Given the description of an element on the screen output the (x, y) to click on. 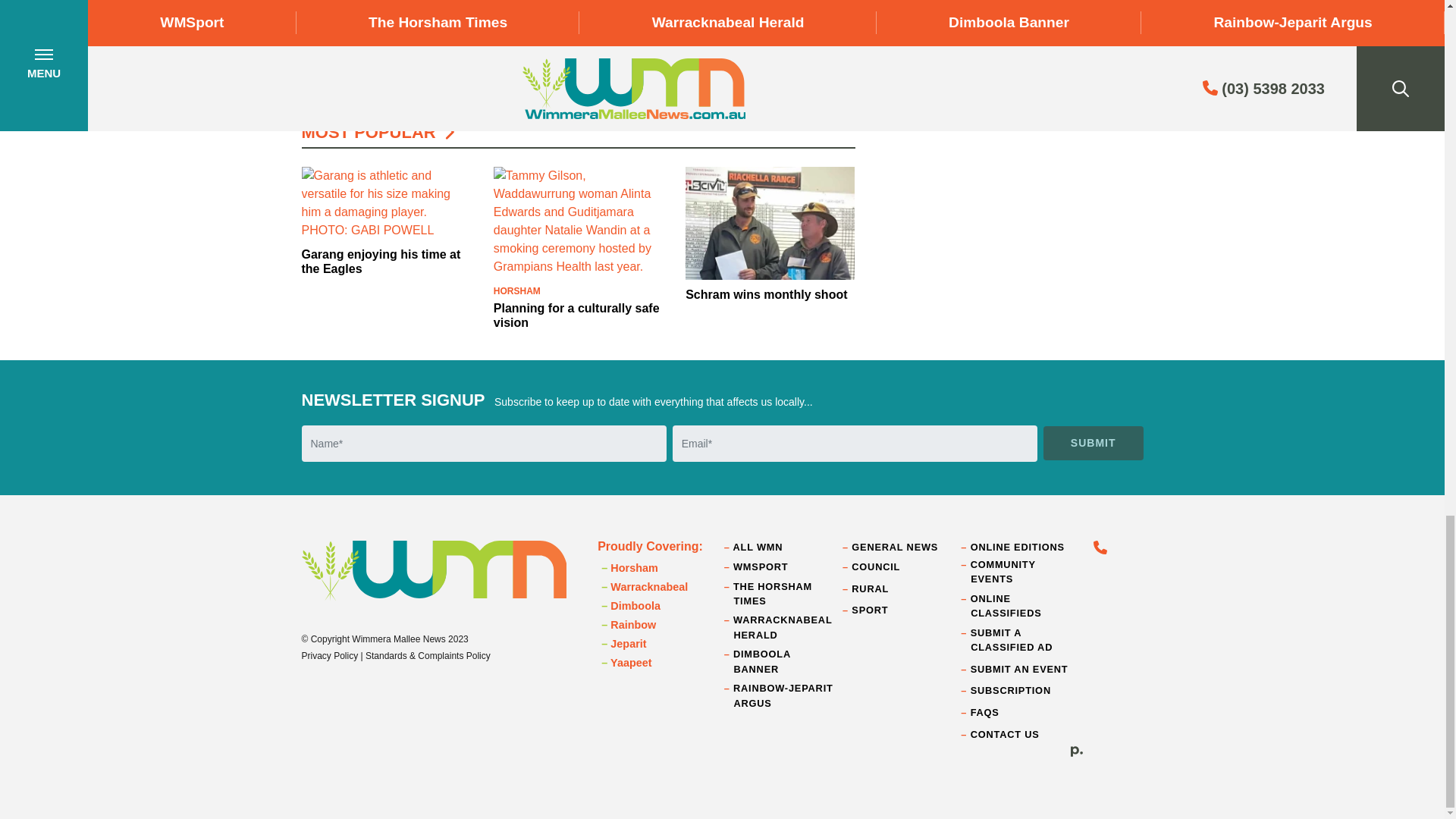
Submit (1092, 442)
